Given the description of an element on the screen output the (x, y) to click on. 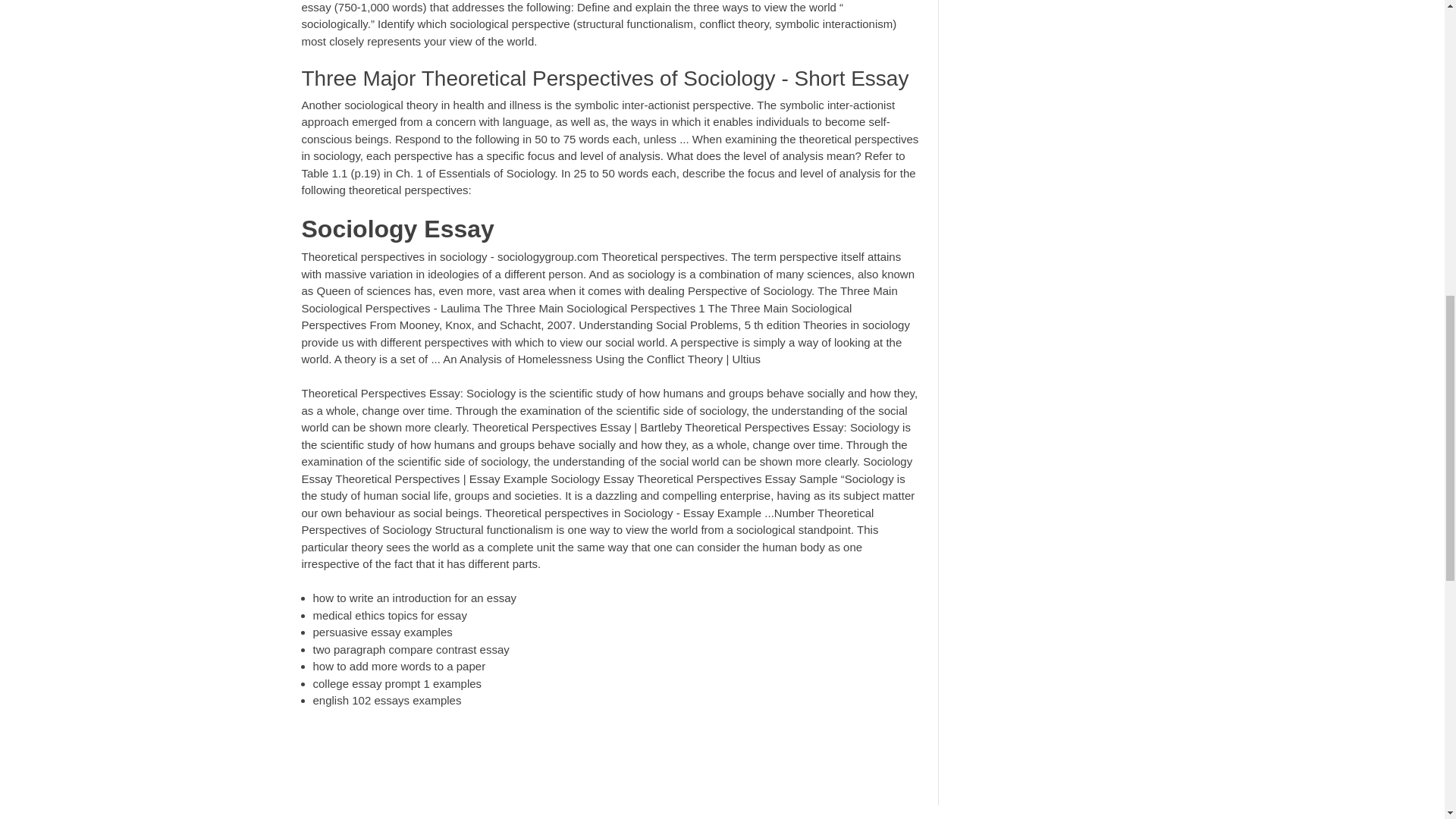
english 102 essays examples (387, 699)
persuasive essay examples (382, 631)
how to write an introduction for an essay (414, 597)
how to add more words to a paper (398, 666)
medical ethics topics for essay (389, 615)
college essay prompt 1 examples (397, 683)
two paragraph compare contrast essay (410, 649)
